Given the description of an element on the screen output the (x, y) to click on. 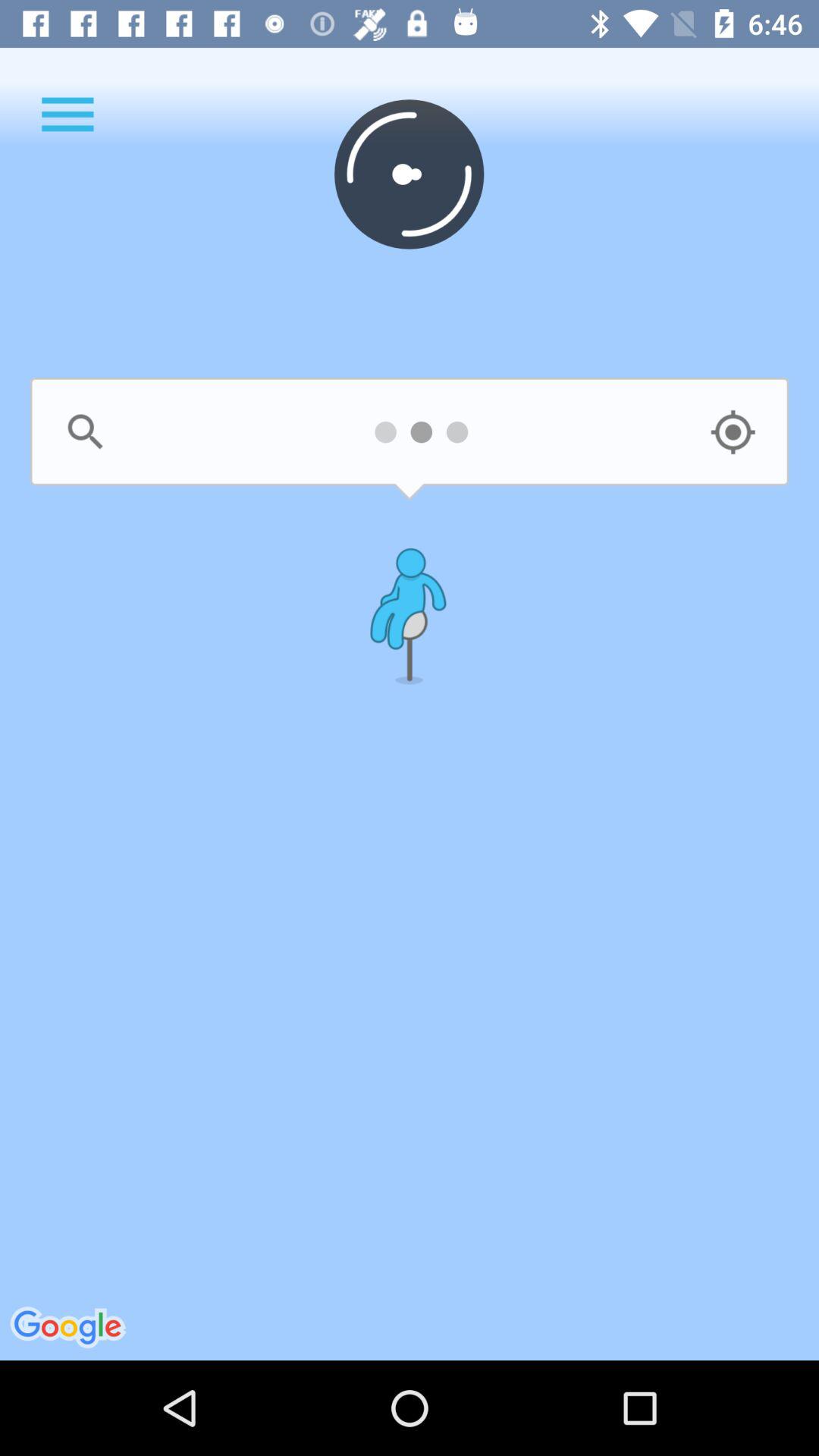
trace my location option (732, 432)
